Given the description of an element on the screen output the (x, y) to click on. 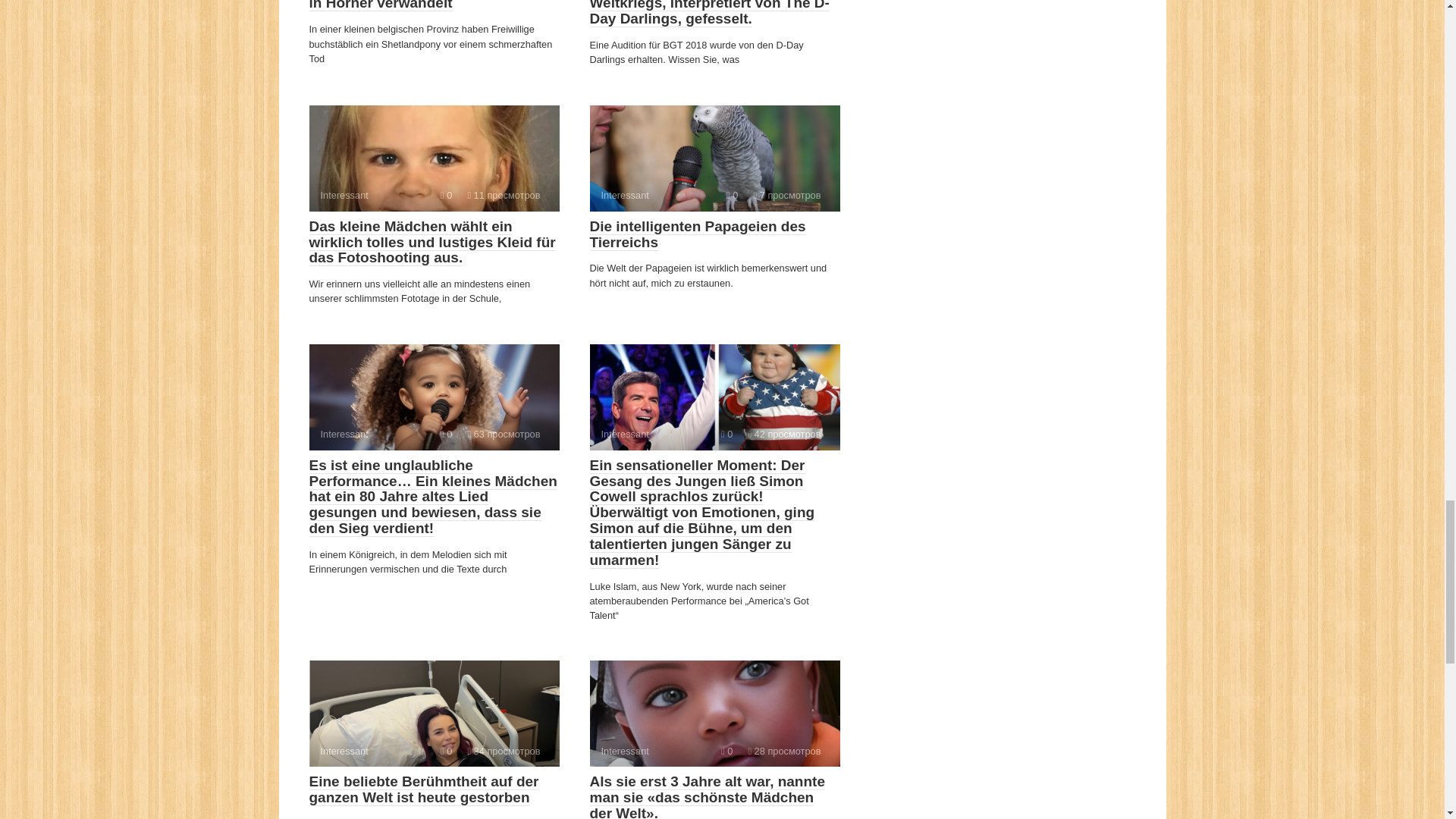
Die intelligenten Papageien des Tierreichs (697, 234)
